Given the description of an element on the screen output the (x, y) to click on. 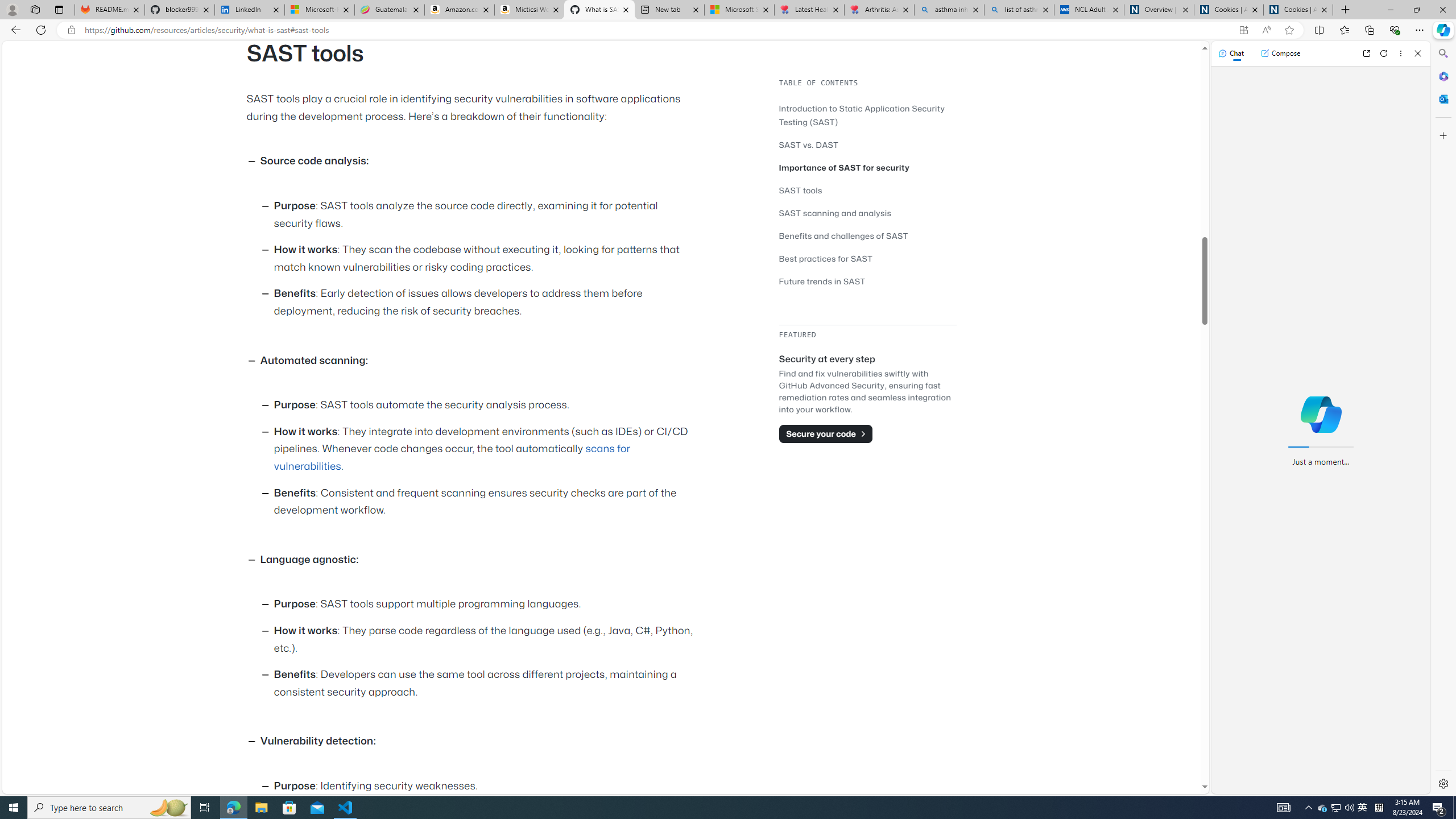
Side bar (1443, 418)
Address and search bar (658, 29)
Benefits and challenges of SAST (867, 235)
Arthritis: Ask Health Professionals (879, 9)
Best practices for SAST (825, 258)
App bar (728, 29)
